Given the description of an element on the screen output the (x, y) to click on. 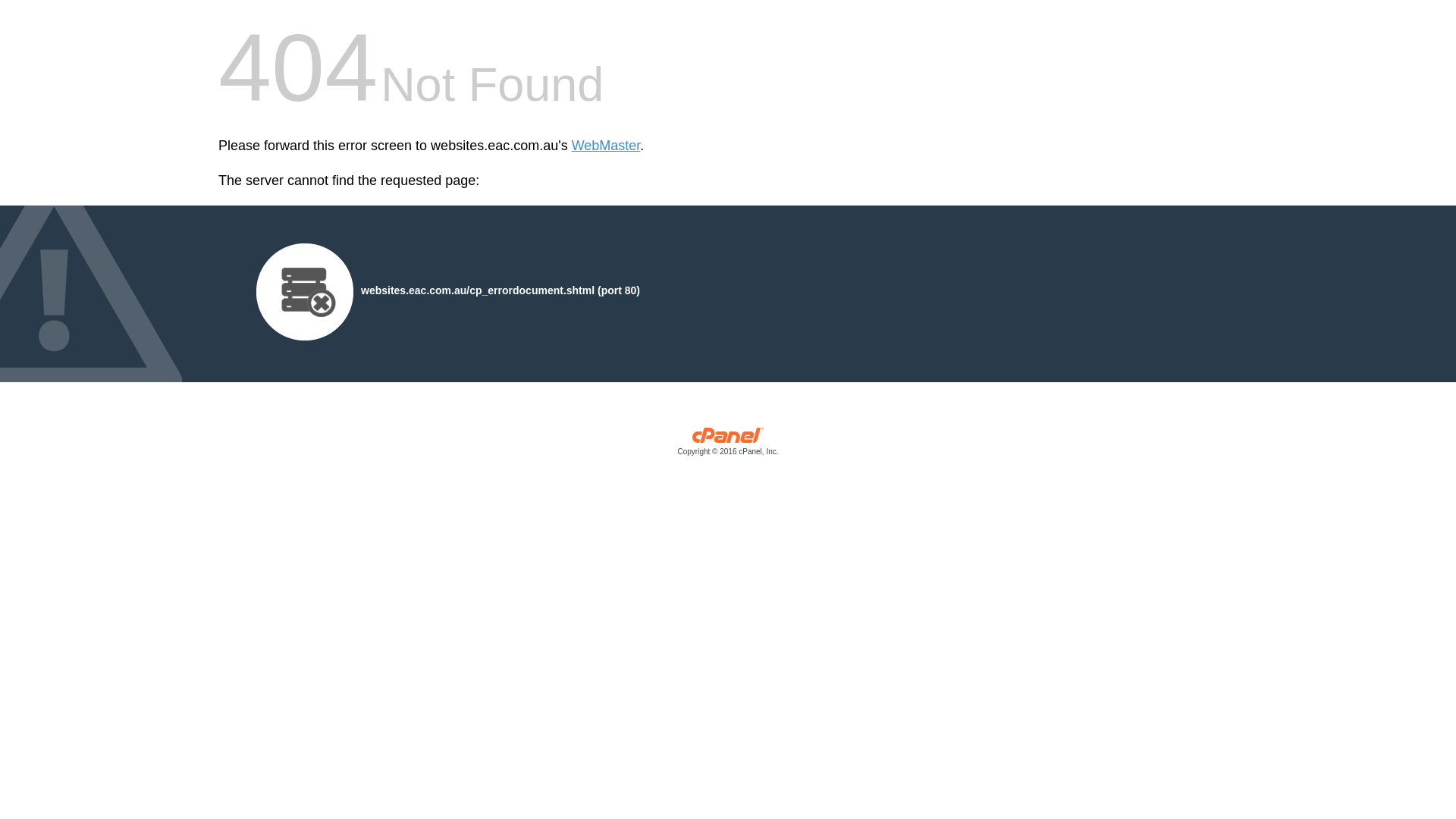
WebMaster Element type: text (605, 145)
